Given the description of an element on the screen output the (x, y) to click on. 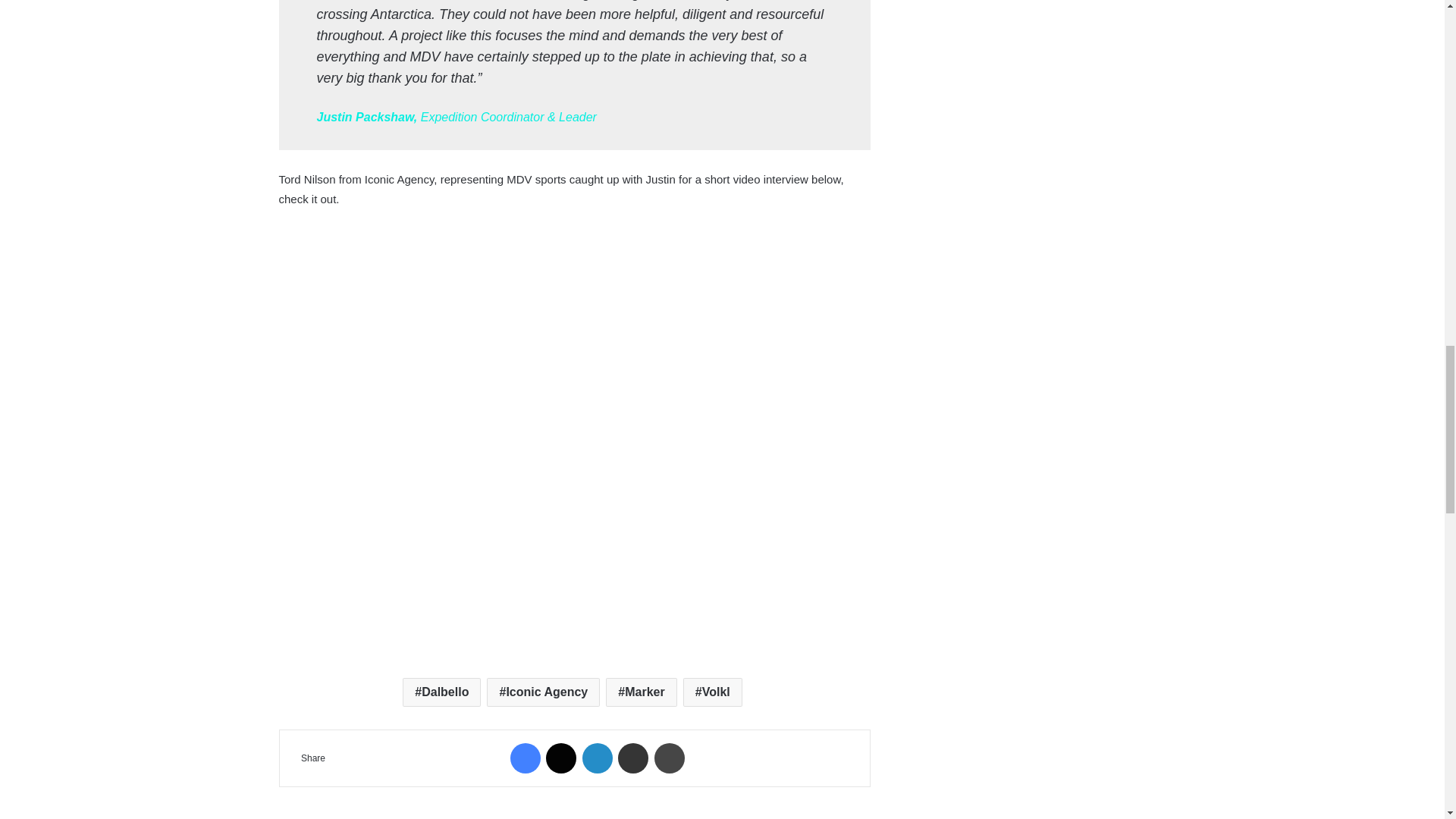
LinkedIn (597, 757)
X (561, 757)
Facebook (524, 757)
